Given the description of an element on the screen output the (x, y) to click on. 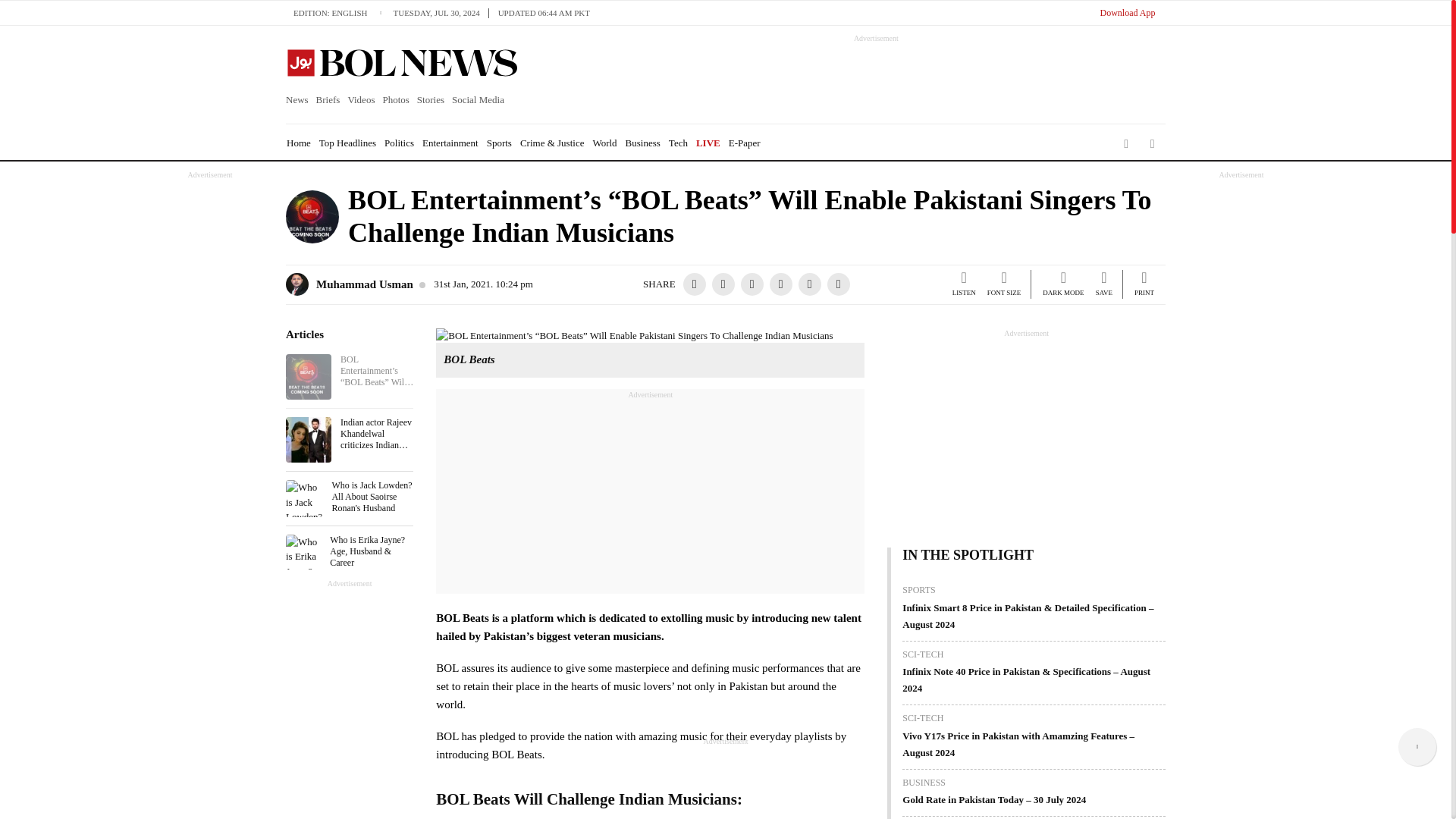
News (299, 99)
TUESDAY, JUL 30, 2024 (440, 12)
UPDATED 06:44 AM PKT (543, 12)
Stories (430, 99)
Top Headlines (346, 143)
Social Media (478, 99)
Videos (360, 99)
Briefs (328, 99)
Business (643, 143)
Entertainment (450, 143)
Download App (1127, 12)
Photos (395, 99)
